Given the description of an element on the screen output the (x, y) to click on. 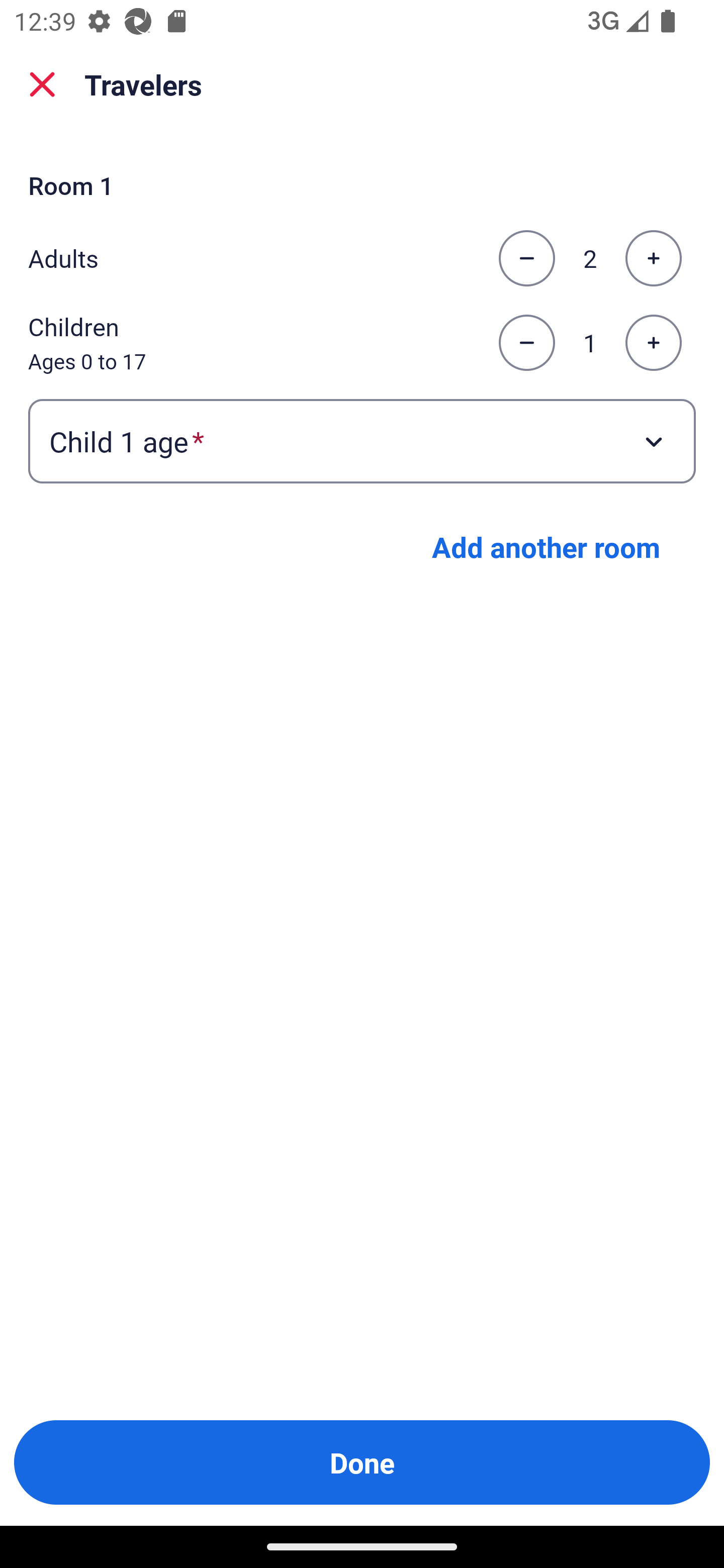
close (42, 84)
Decrease the number of adults (526, 258)
Increase the number of adults (653, 258)
Decrease the number of children (526, 343)
Increase the number of children (653, 343)
Child 1 age required Button (361, 440)
Add another room (545, 546)
Done (361, 1462)
